Given the description of an element on the screen output the (x, y) to click on. 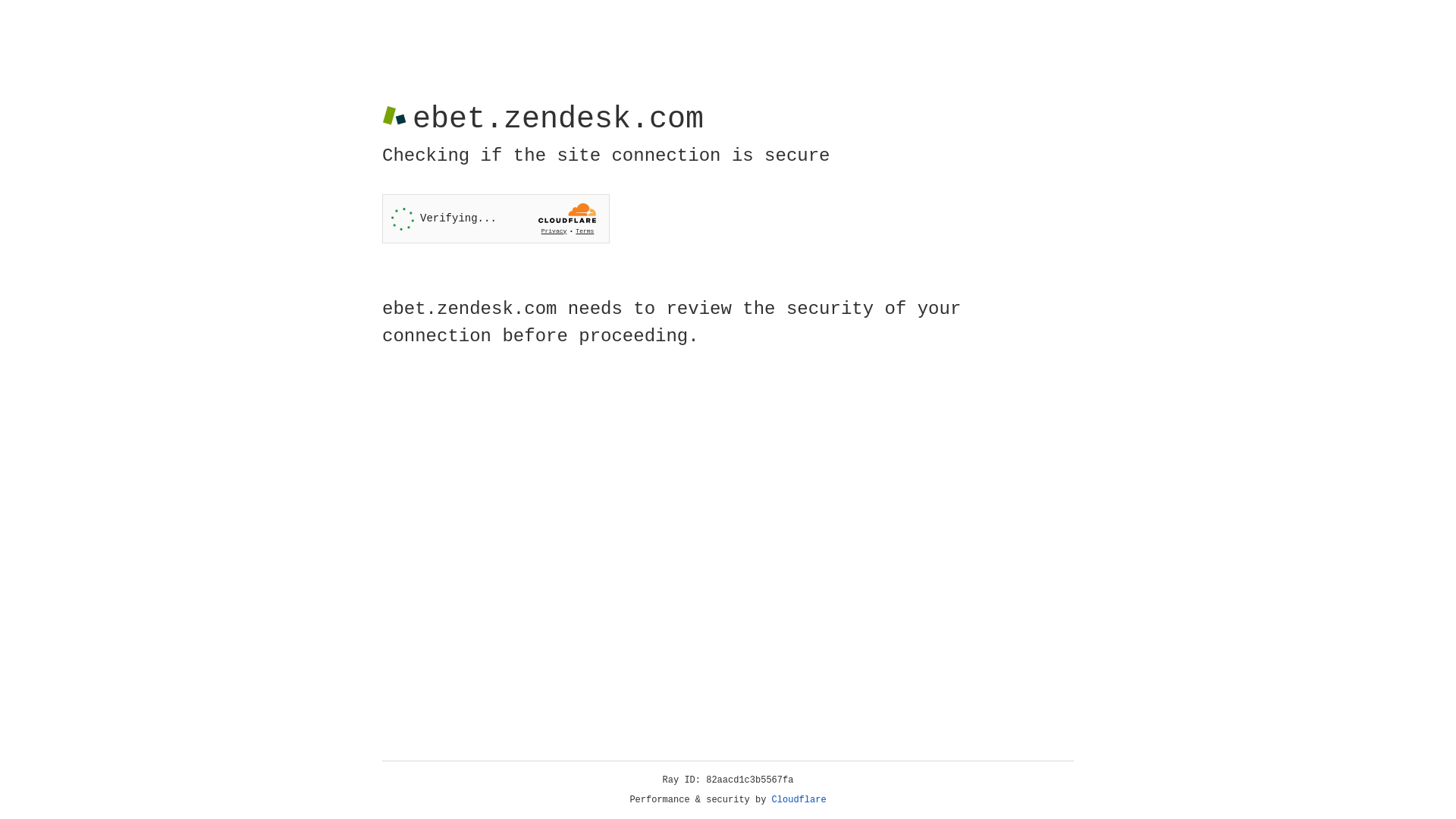
Widget containing a Cloudflare security challenge Element type: hover (495, 218)
Cloudflare Element type: text (798, 799)
